Given the description of an element on the screen output the (x, y) to click on. 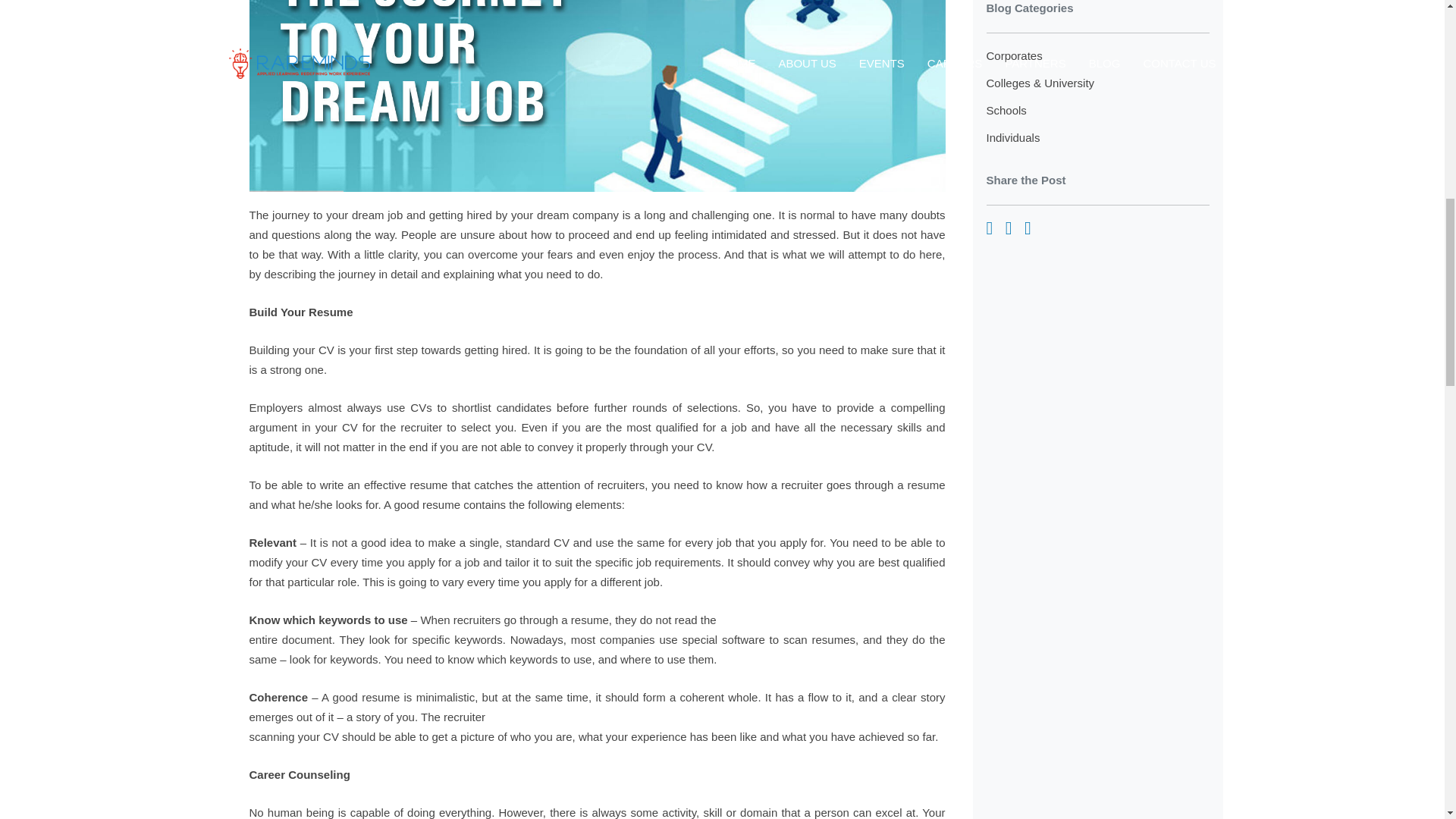
Share this post on Facebook (988, 229)
Corporates (1013, 55)
Individuals (1012, 137)
Share this with your Twitter followers (1027, 229)
Schools (1005, 110)
